Given the description of an element on the screen output the (x, y) to click on. 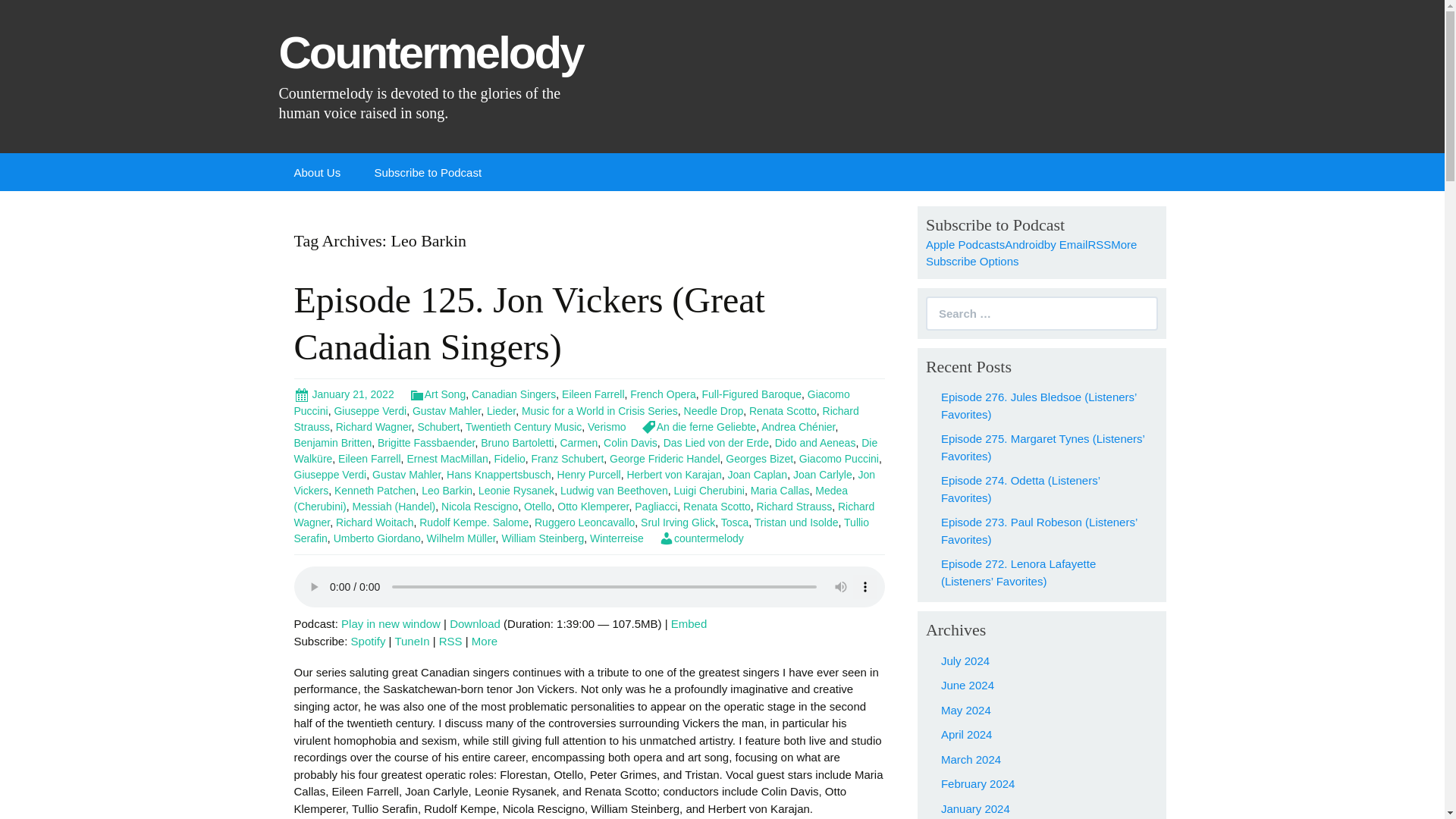
Gustav Mahler (446, 410)
Eileen Farrell (368, 458)
Richard Strauss (576, 418)
Carmen (577, 442)
Franz Schubert (567, 458)
View all posts by countermelody (701, 538)
Giuseppe Verdi (369, 410)
Subscribe via RSS (1098, 244)
Richard Wagner (374, 426)
Canadian Singers (513, 394)
Subscribe on Apple Podcasts (965, 244)
Brigitte Fassbaender (425, 442)
Countermelody (435, 68)
Music for a World in Crisis Series (599, 410)
